Given the description of an element on the screen output the (x, y) to click on. 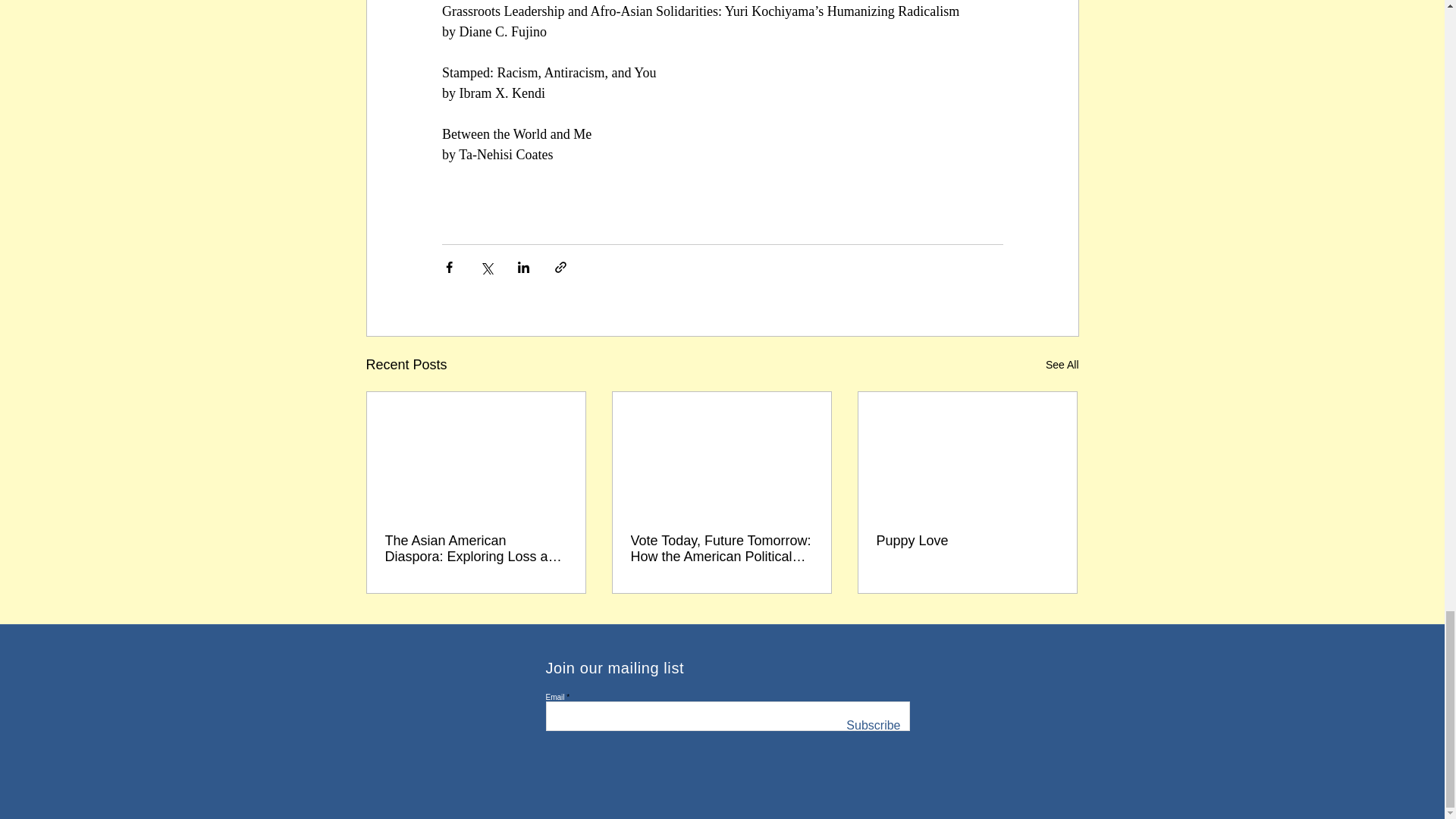
Subscribe (872, 725)
Puppy Love (967, 540)
See All (1061, 364)
The Asian American Diaspora: Exploring Loss and Belonging (476, 549)
